Given the description of an element on the screen output the (x, y) to click on. 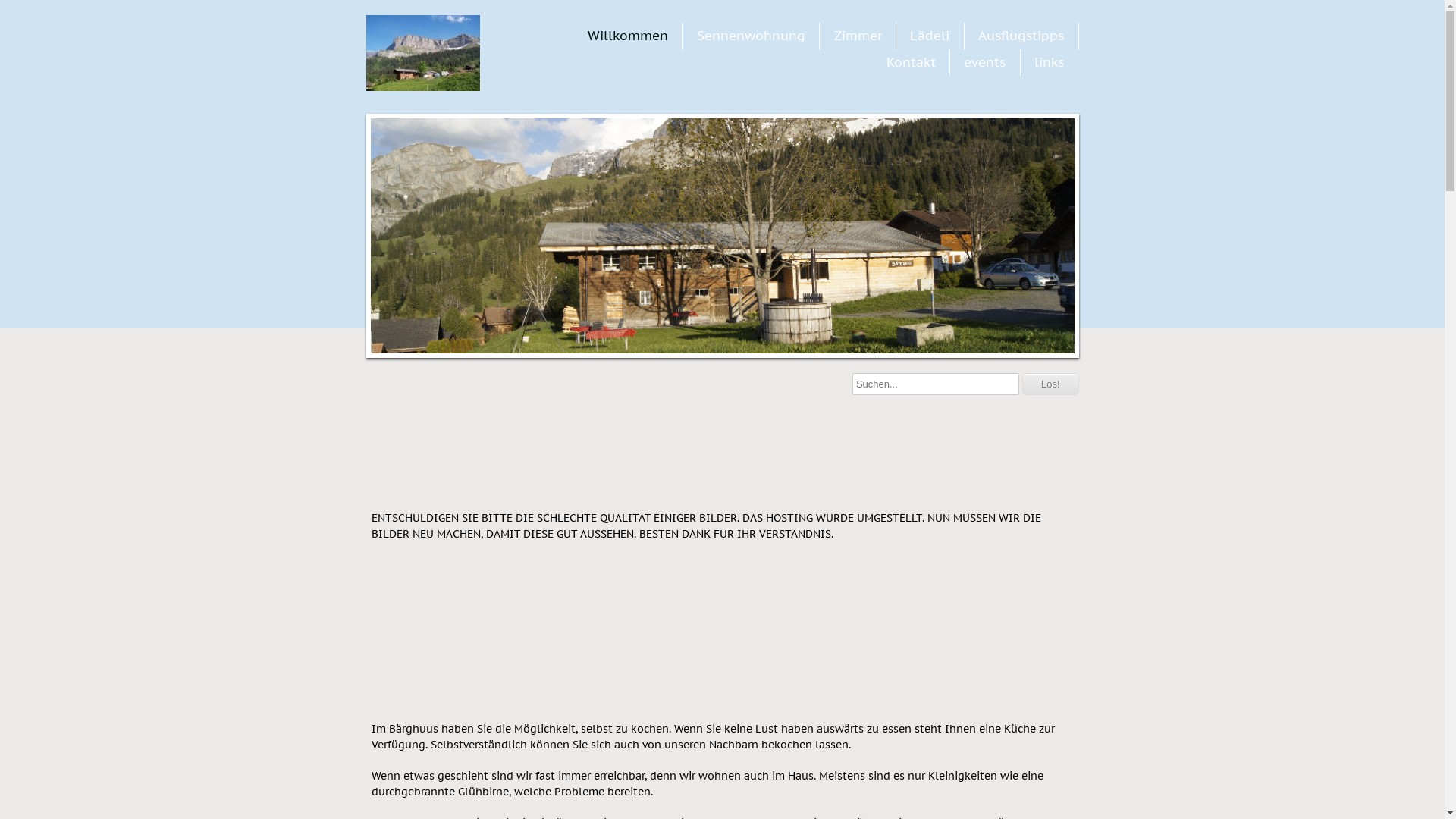
links Element type: text (1048, 62)
events Element type: text (984, 62)
Zimmer Element type: text (857, 35)
Kontakt Element type: text (910, 62)
Sennenwohnung Element type: text (750, 35)
Los! Element type: text (1050, 384)
Ausflugstipps Element type: text (1020, 35)
Willkommen Element type: text (627, 35)
